Given the description of an element on the screen output the (x, y) to click on. 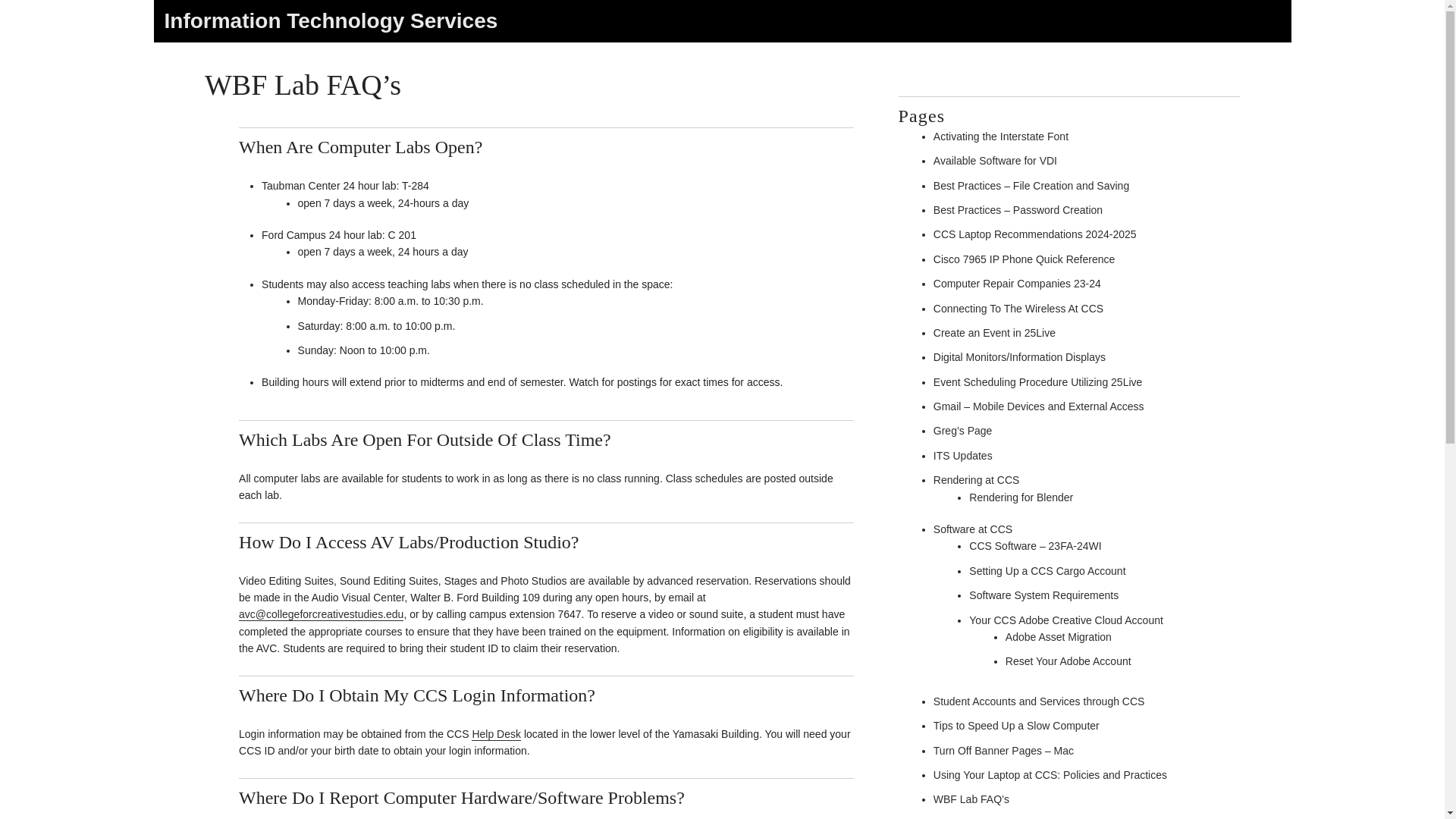
Computer Repair Companies 23-24 (1016, 283)
Rendering at CCS (976, 480)
Software at CCS (972, 529)
Create an Event in 25Live (994, 332)
Help Desk (496, 734)
Information Technology Services (330, 20)
Connecting To The Wireless At CCS (1018, 308)
CCS Laptop Recommendations 2024-2025 (1035, 234)
Reset Your Adobe Account (1068, 661)
